Given the description of an element on the screen output the (x, y) to click on. 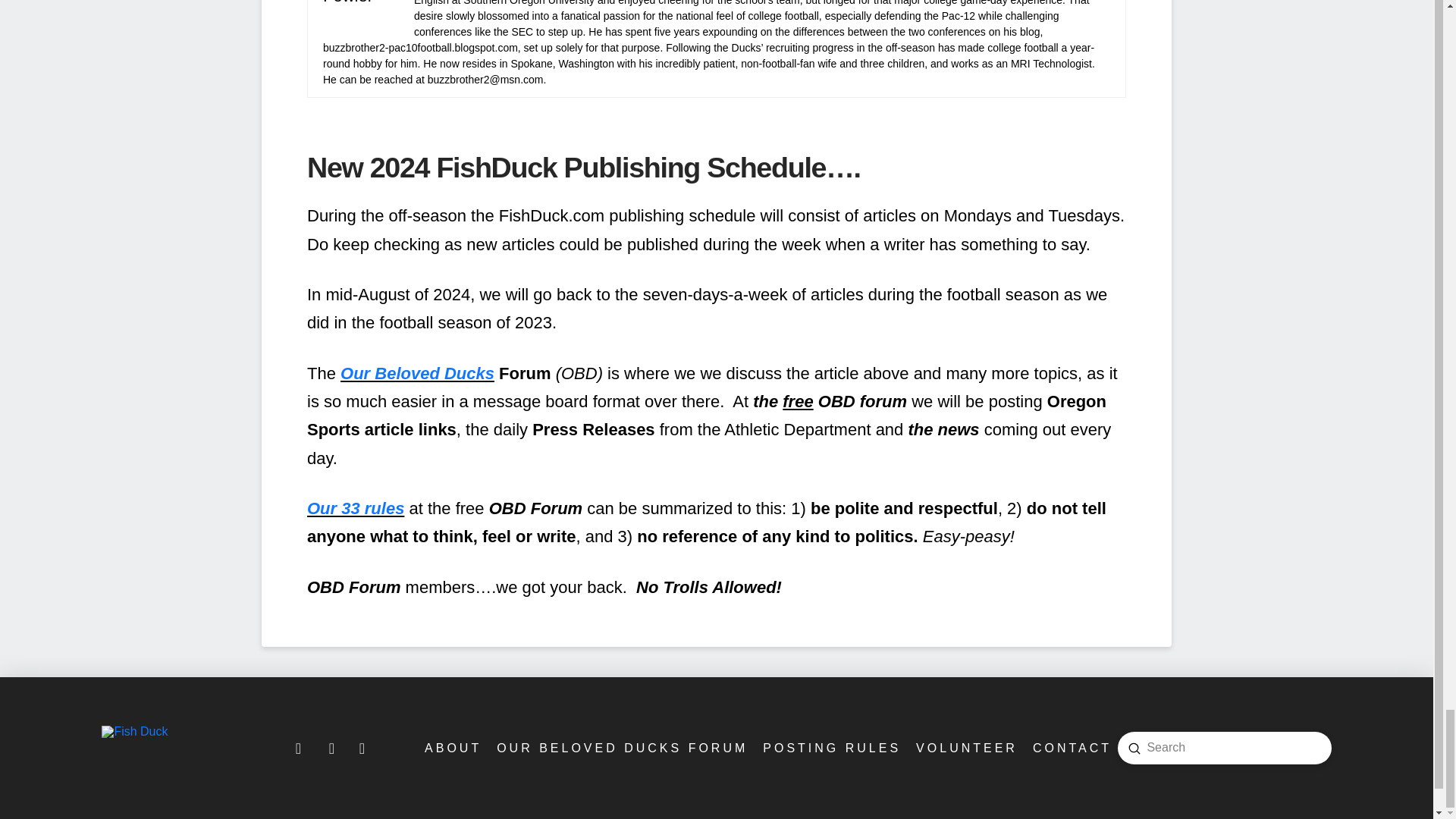
CONTACT (1070, 748)
VOLUNTEER (965, 748)
About (450, 748)
POSTING RULES (830, 748)
Commenting Rules (830, 748)
ABOUT (450, 748)
Submit (1134, 748)
Our Beloved Ducks (417, 373)
Volunteer (965, 748)
Our 33 rules (355, 507)
OUR BELOVED DUCKS FORUM (620, 748)
